Given the description of an element on the screen output the (x, y) to click on. 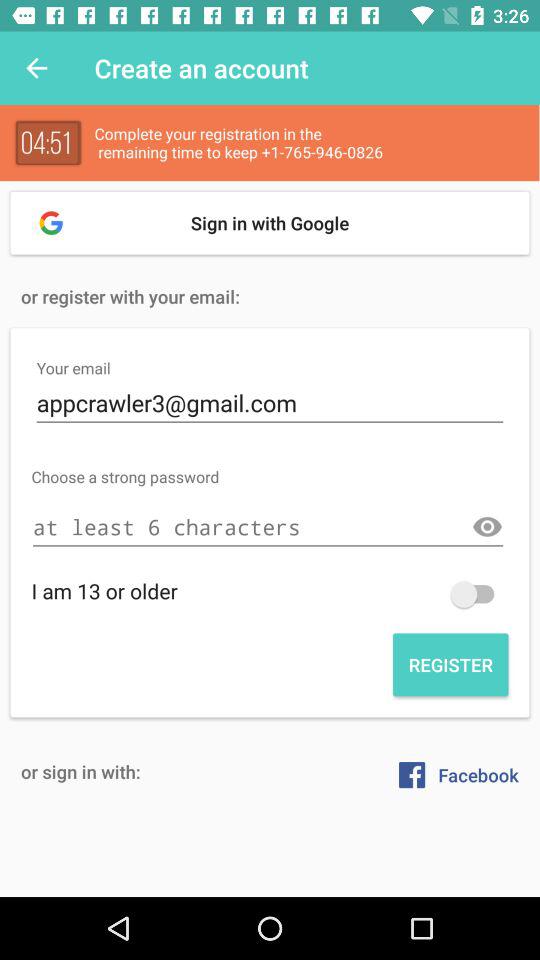
go back button option (477, 594)
